Given the description of an element on the screen output the (x, y) to click on. 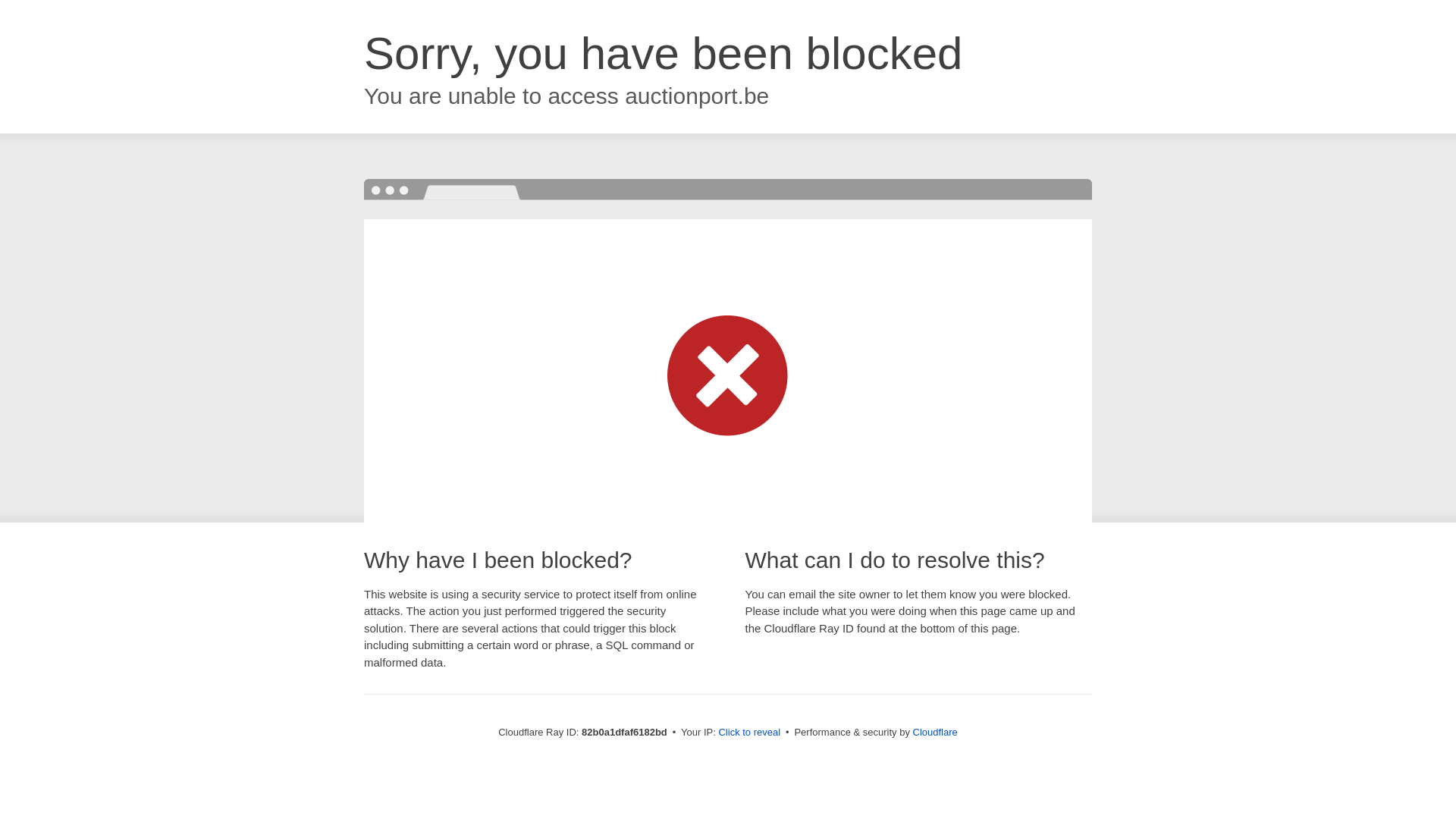
Click to reveal Element type: text (749, 732)
Cloudflare Element type: text (935, 731)
